Given the description of an element on the screen output the (x, y) to click on. 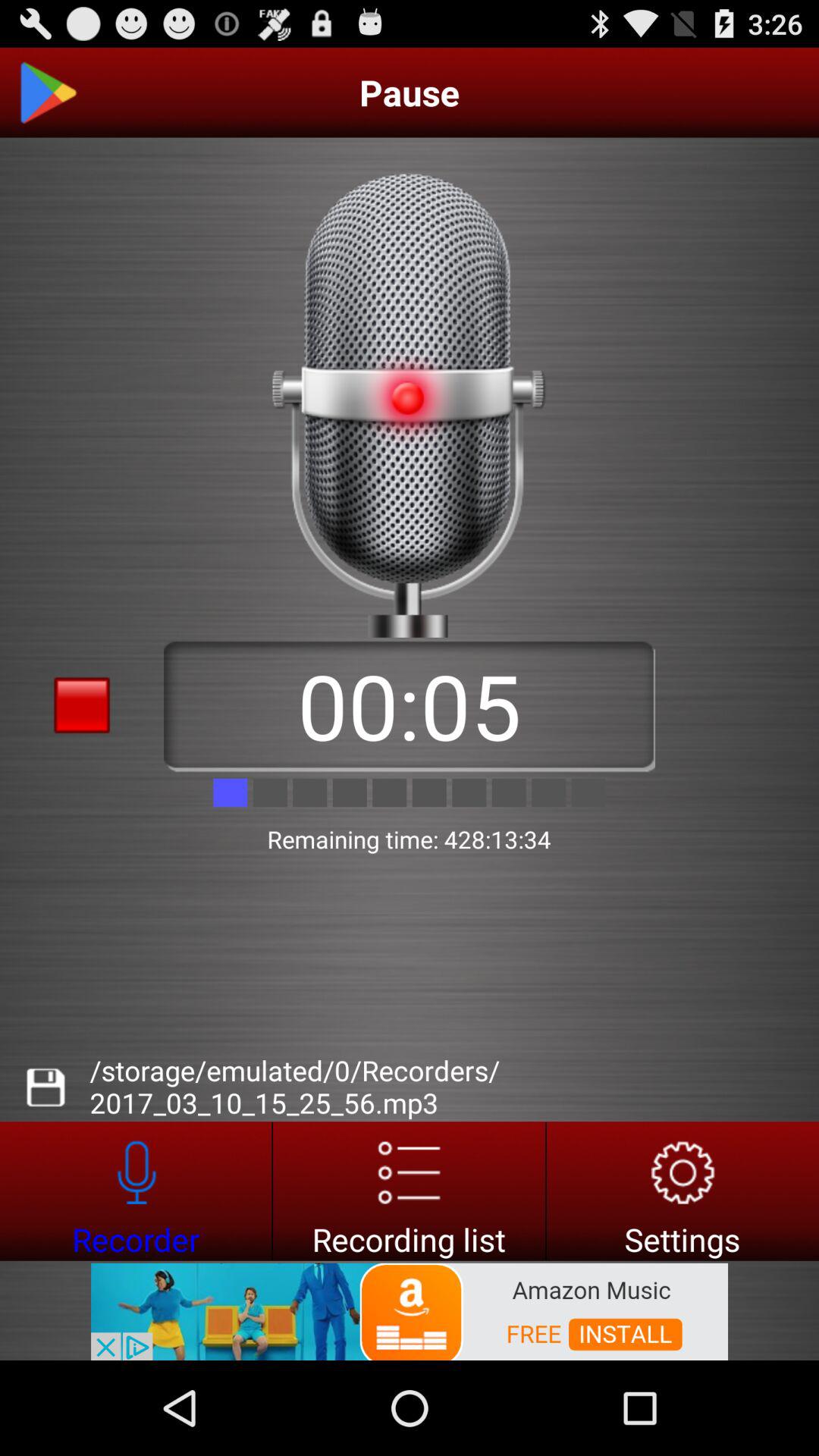
go to menu (409, 1190)
